Given the description of an element on the screen output the (x, y) to click on. 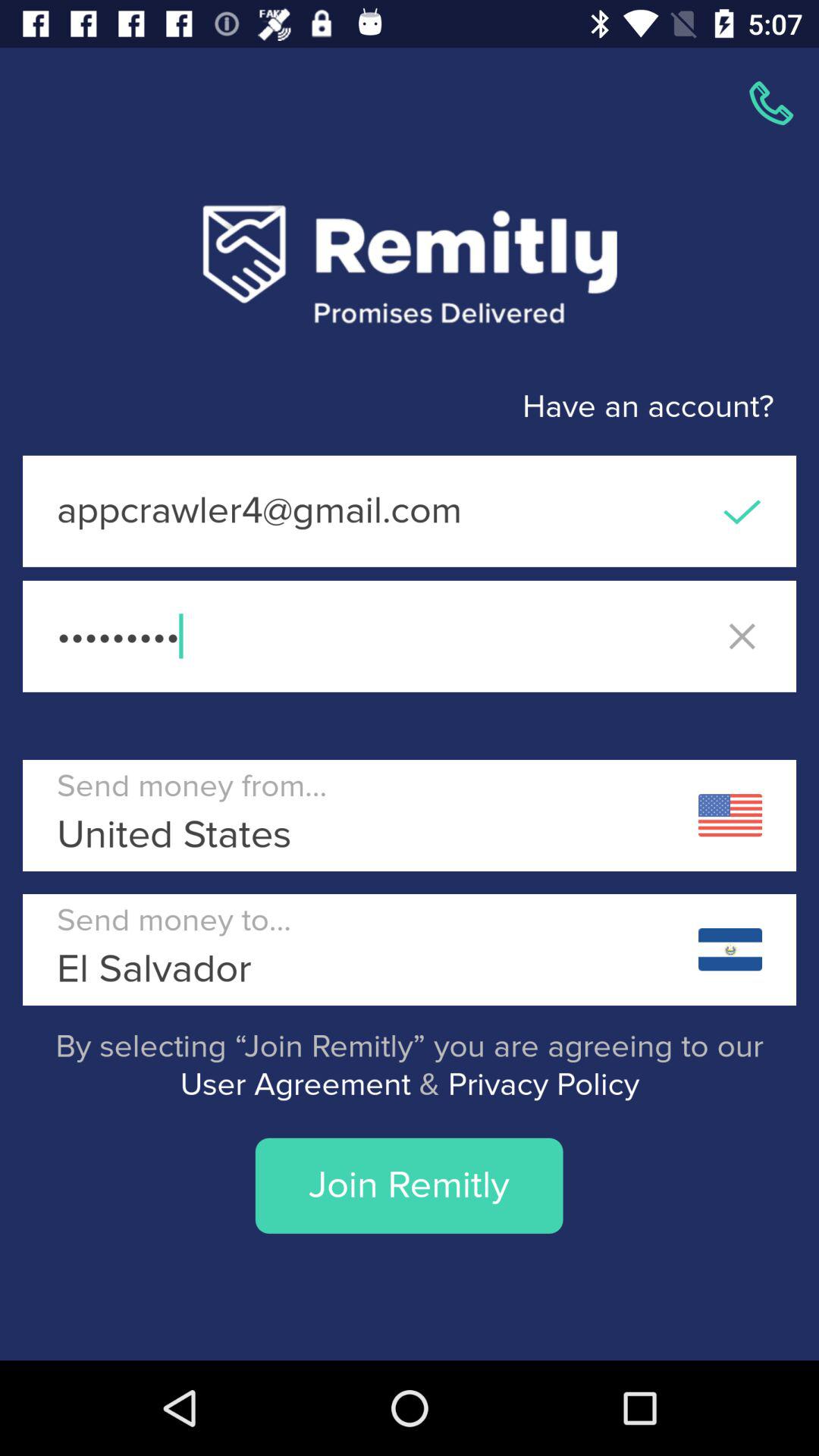
turn off the icon above the send money from... item (409, 636)
